Given the description of an element on the screen output the (x, y) to click on. 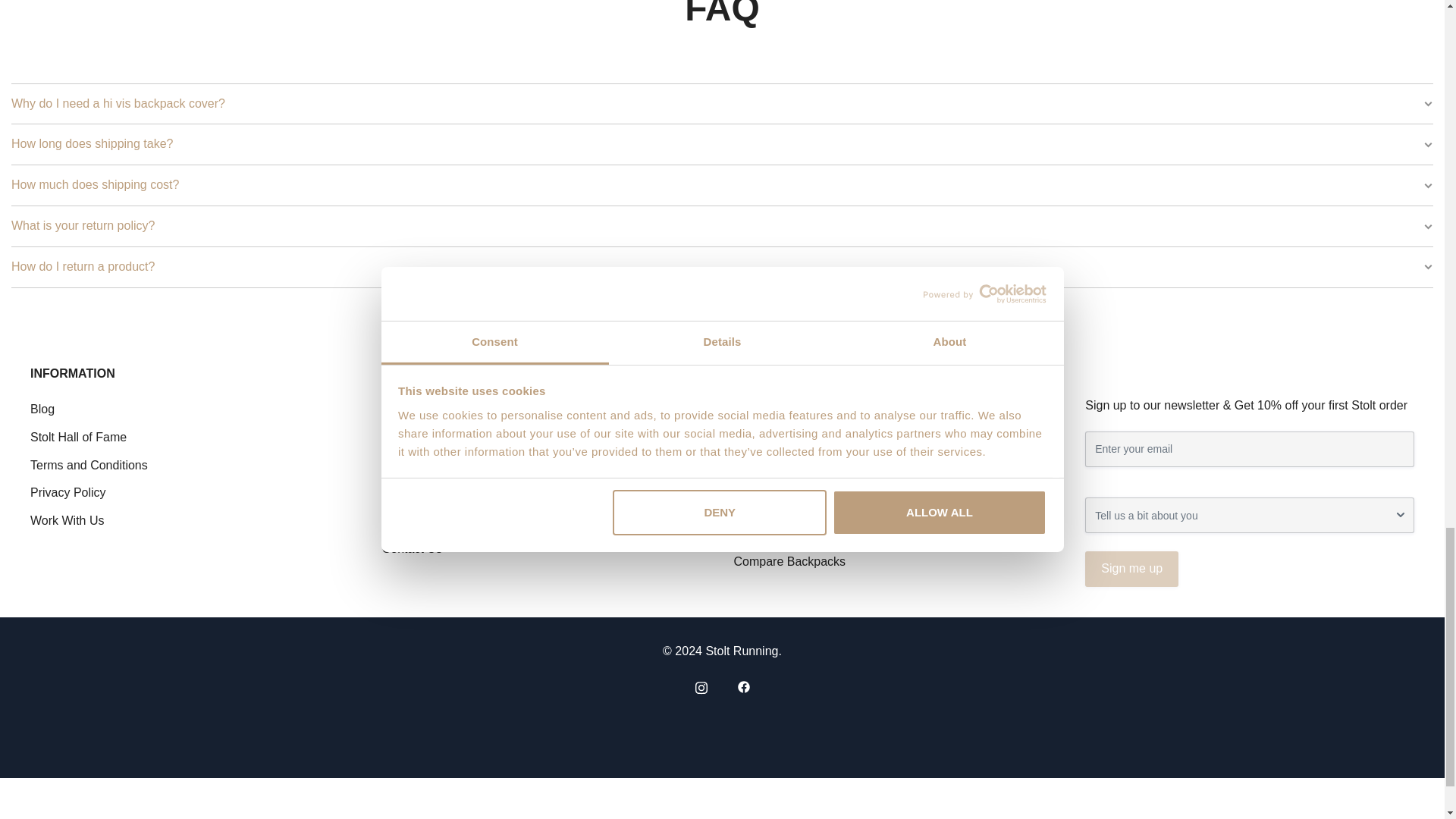
Sign me up (1130, 569)
